Given the description of an element on the screen output the (x, y) to click on. 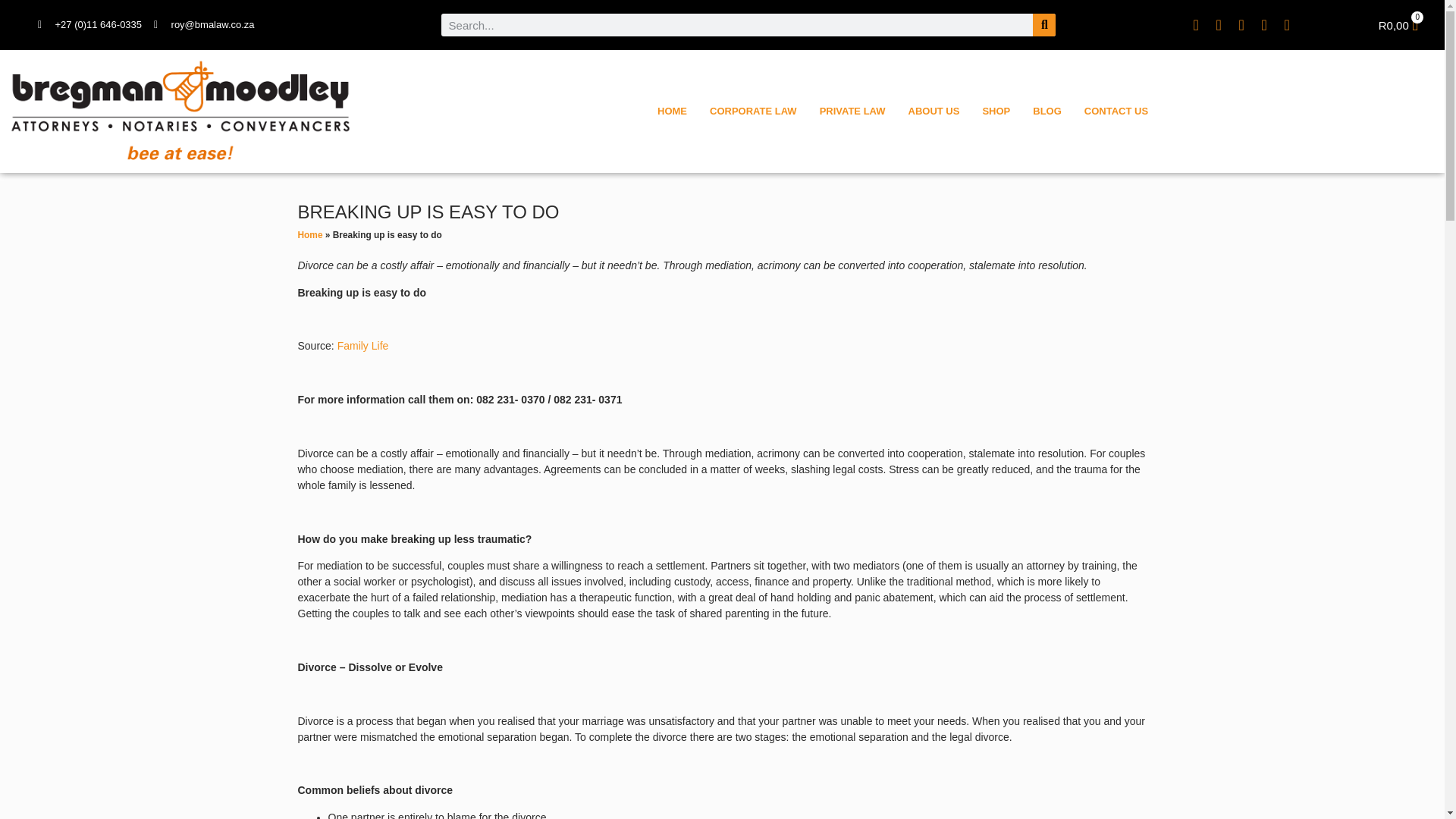
PRIVATE LAW (852, 111)
CORPORATE LAW (1398, 24)
HOME (753, 111)
